Given the description of an element on the screen output the (x, y) to click on. 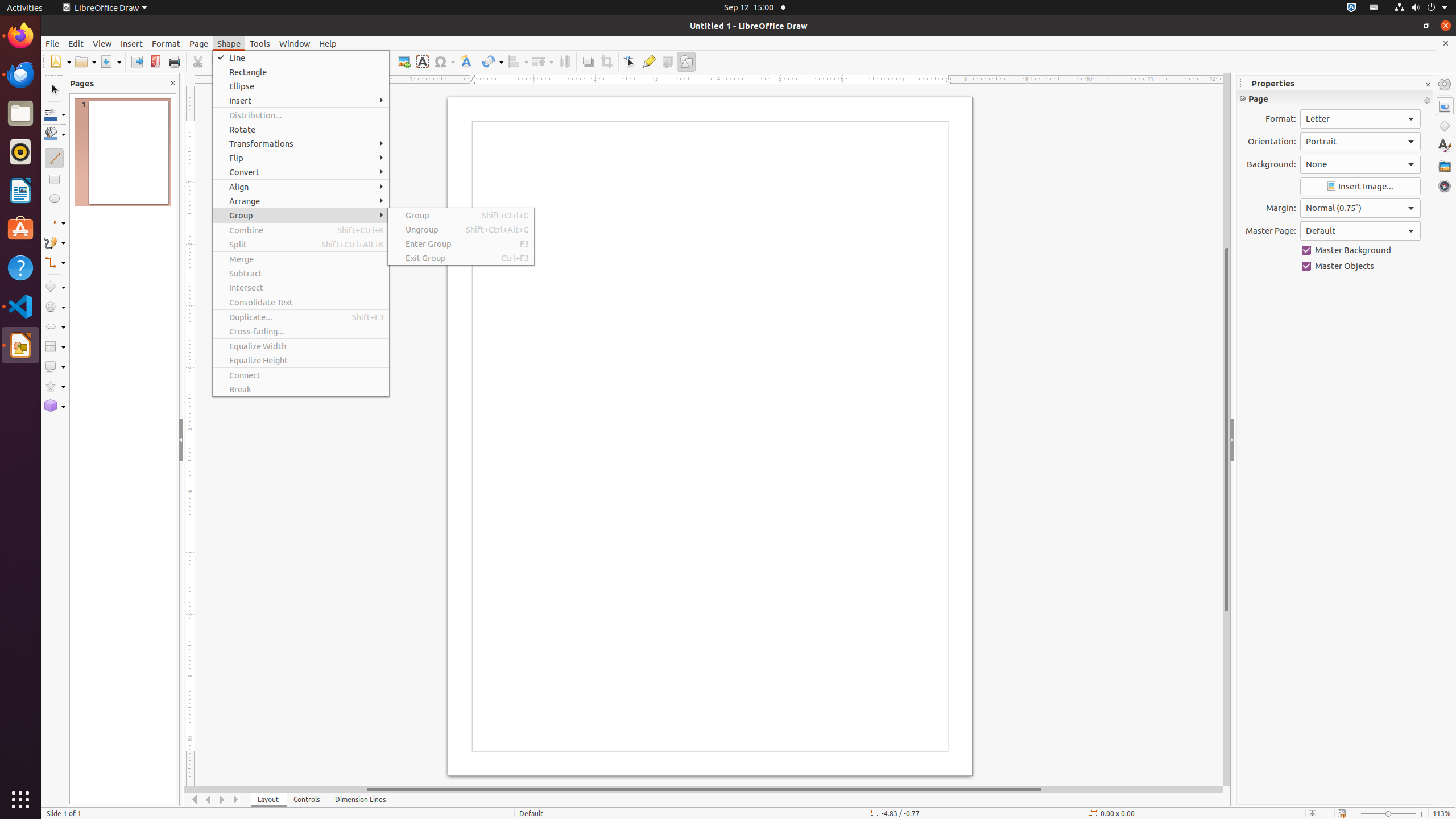
New Element type: push-button (59, 61)
Clone Element type: push-button (264, 61)
LibreOffice Draw Element type: menu (103, 7)
Group Element type: menu (300, 215)
View Element type: menu (102, 43)
